Given the description of an element on the screen output the (x, y) to click on. 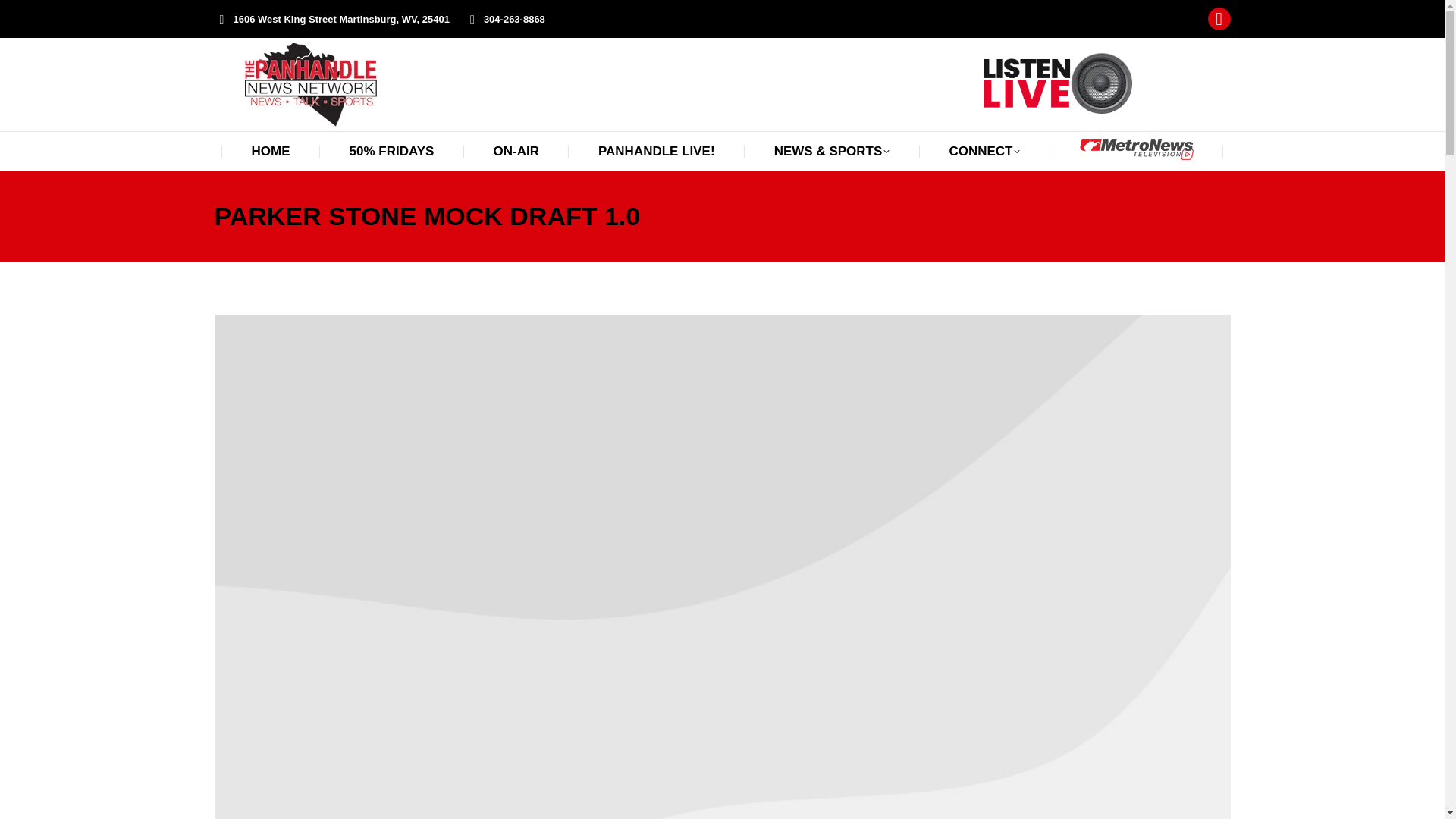
Facebook page opens in new window (1219, 18)
304-263-8868 (504, 19)
HOME (270, 150)
CONNECT (984, 150)
ON-AIR (515, 150)
PANHANDLE LIVE! (656, 150)
Facebook page opens in new window (1219, 18)
